Given the description of an element on the screen output the (x, y) to click on. 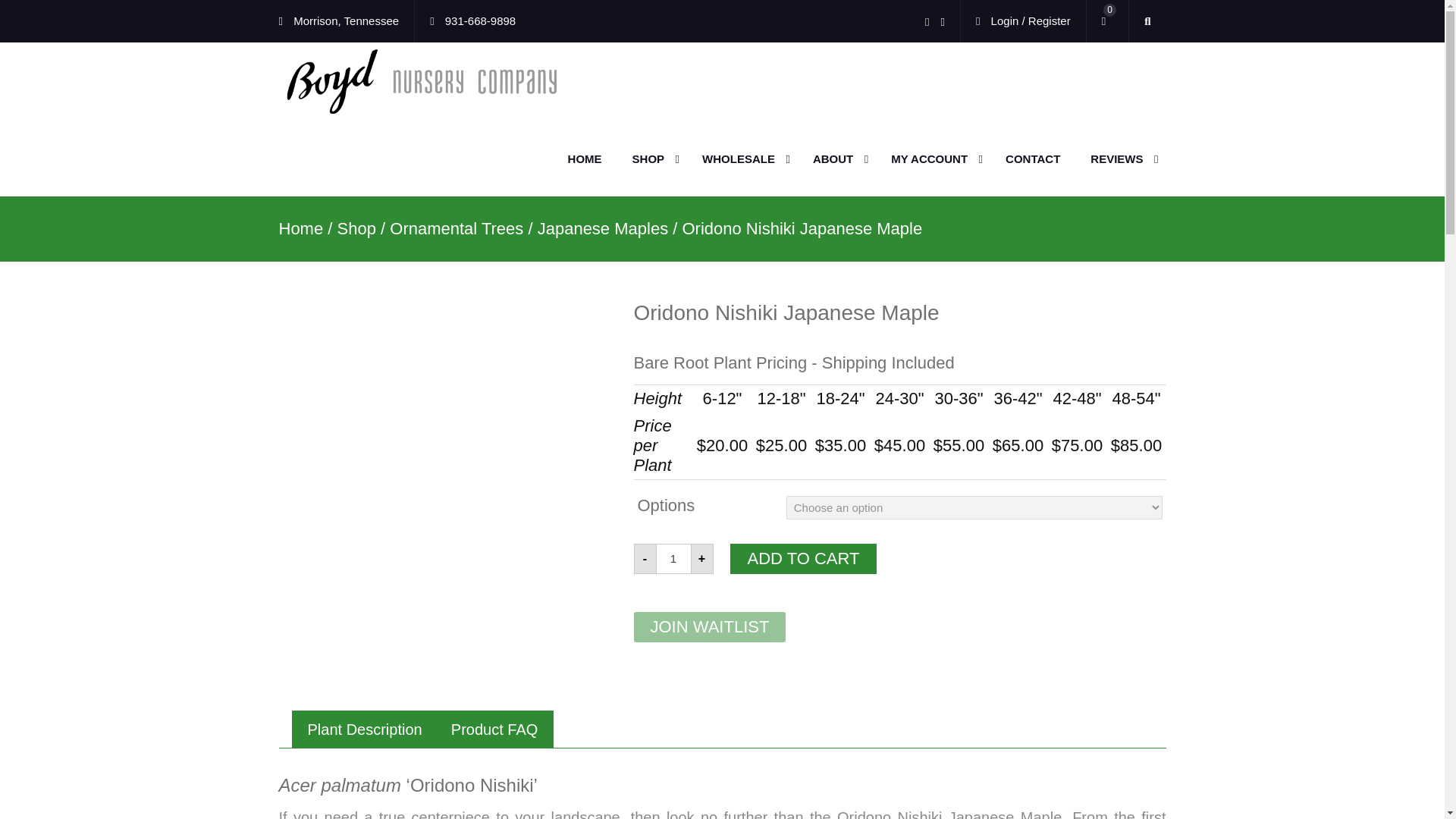
Qty (673, 558)
REVIEWS (1120, 159)
ABOUT (836, 159)
WHOLESALE (742, 159)
SHOP (652, 159)
1 (673, 558)
0 (1107, 21)
CONTACT (1032, 159)
MY ACCOUNT (933, 159)
